Given the description of an element on the screen output the (x, y) to click on. 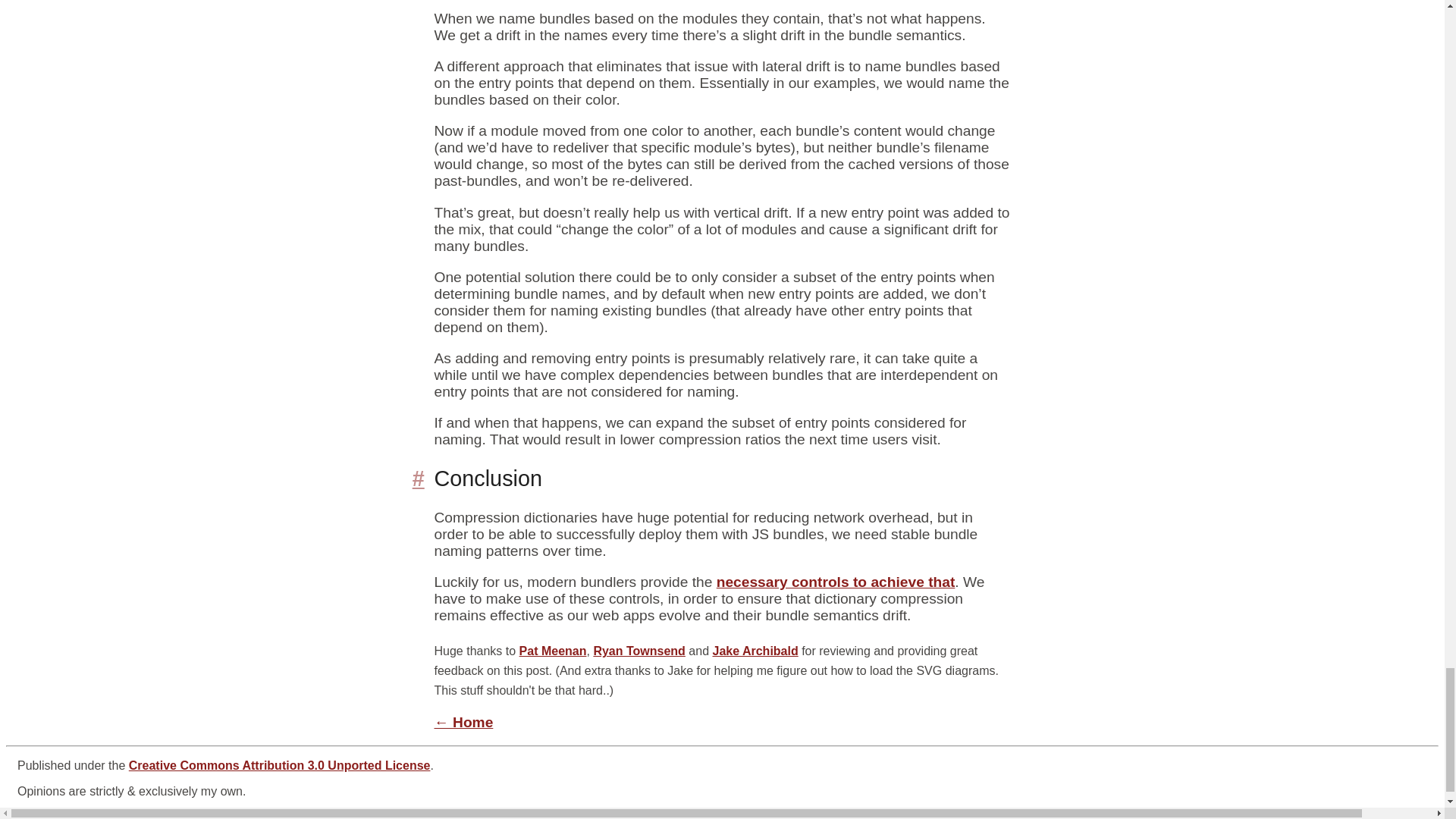
Jake Archibald (754, 650)
Creative Commons Attribution 3.0 Unported License (279, 765)
necessary controls to achieve that (835, 581)
Pat Meenan (552, 650)
Ryan Townsend (638, 650)
